Given the description of an element on the screen output the (x, y) to click on. 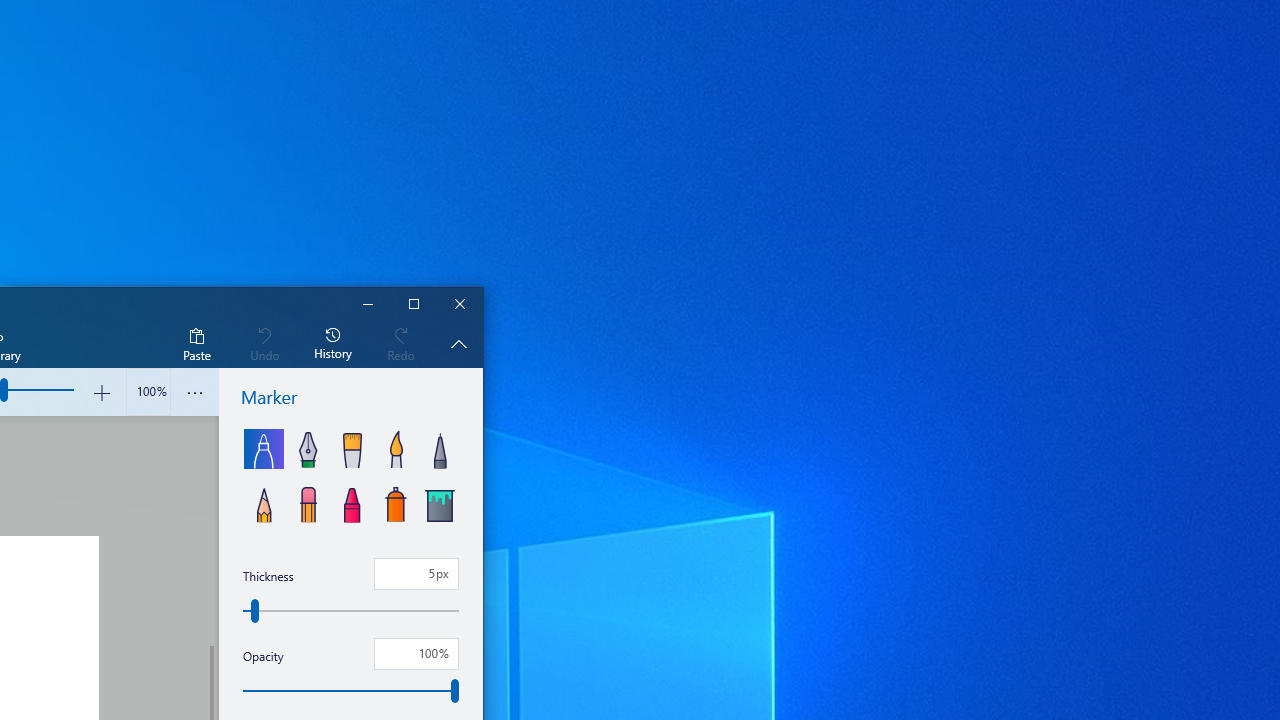
Zoom in (101, 391)
Redo (401, 343)
Spray can (396, 502)
Oil brush (351, 448)
Pencil (264, 502)
Undo (264, 343)
View more options (194, 391)
Opacity, percent (416, 653)
Eraser (307, 502)
Zoom slider (148, 391)
Pixel pen (439, 448)
History (333, 343)
Watercolor (396, 448)
